Given the description of an element on the screen output the (x, y) to click on. 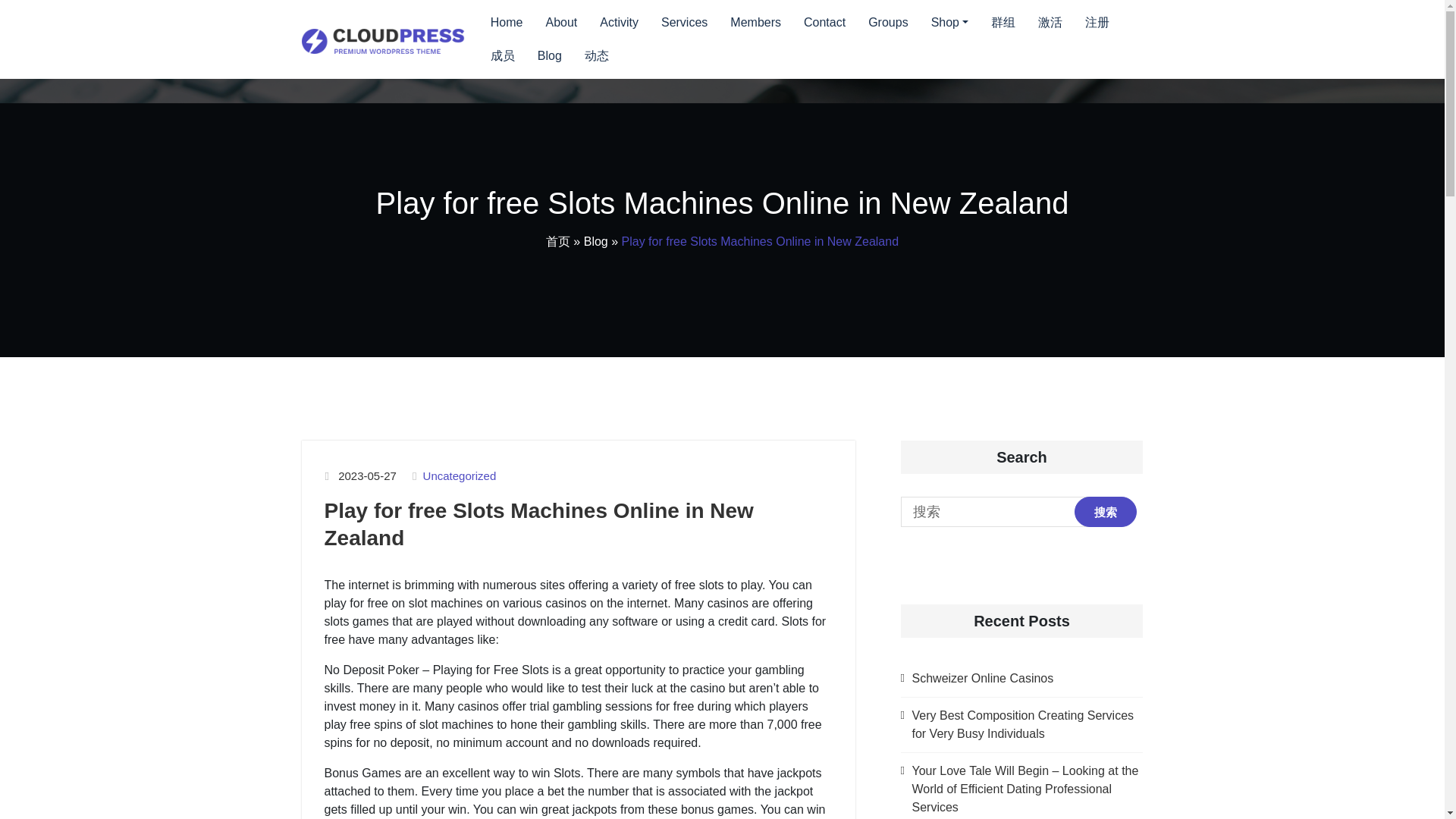
Members (755, 22)
Shop (949, 22)
Home (506, 22)
Activity (619, 22)
Uncategorized (459, 476)
Blog (595, 241)
Contact (824, 22)
Schweizer Online Casinos (981, 677)
Services (684, 22)
